Given the description of an element on the screen output the (x, y) to click on. 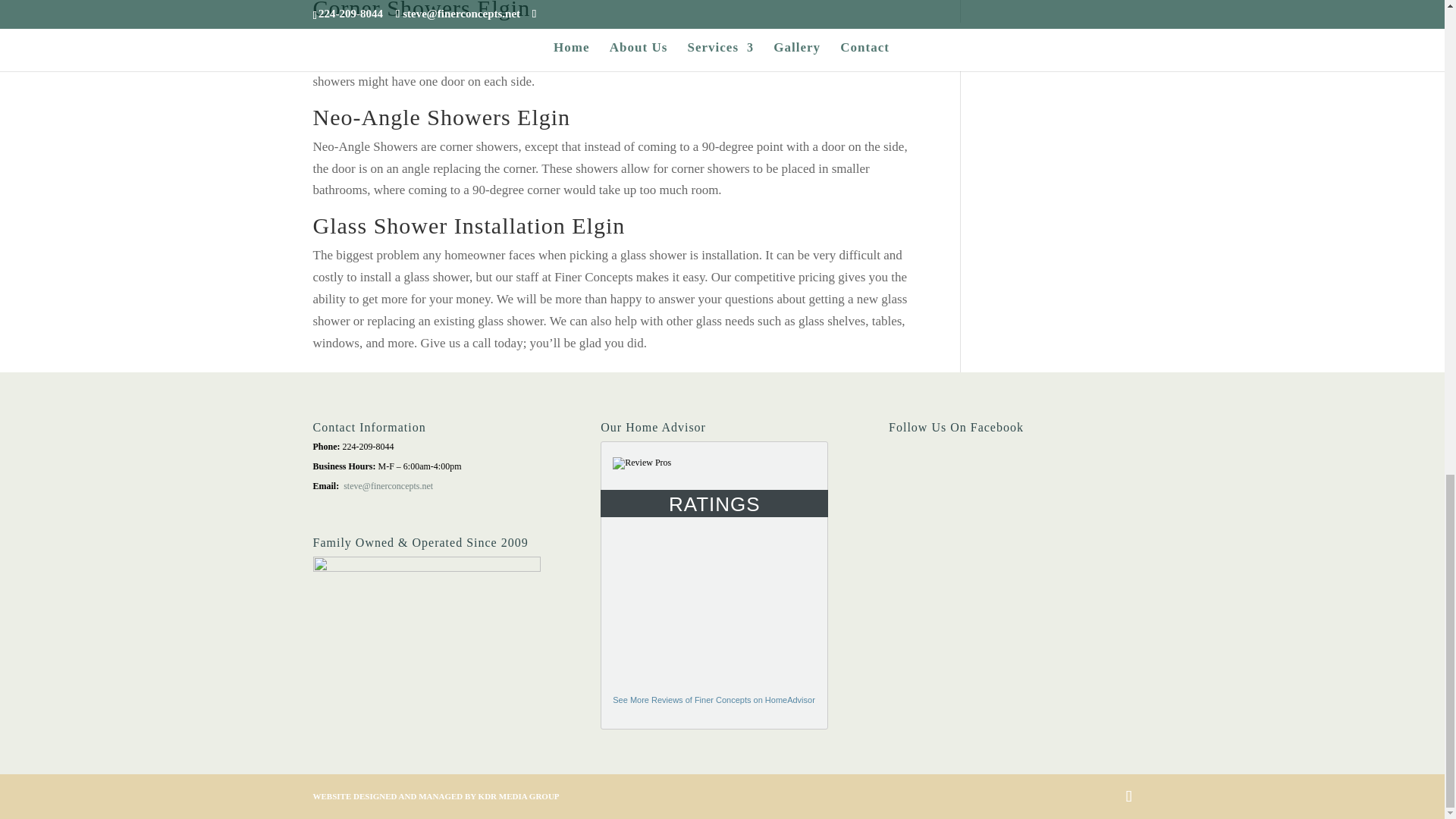
See More Reviews of Finer Concepts on HomeAdvisor (713, 699)
